Given the description of an element on the screen output the (x, y) to click on. 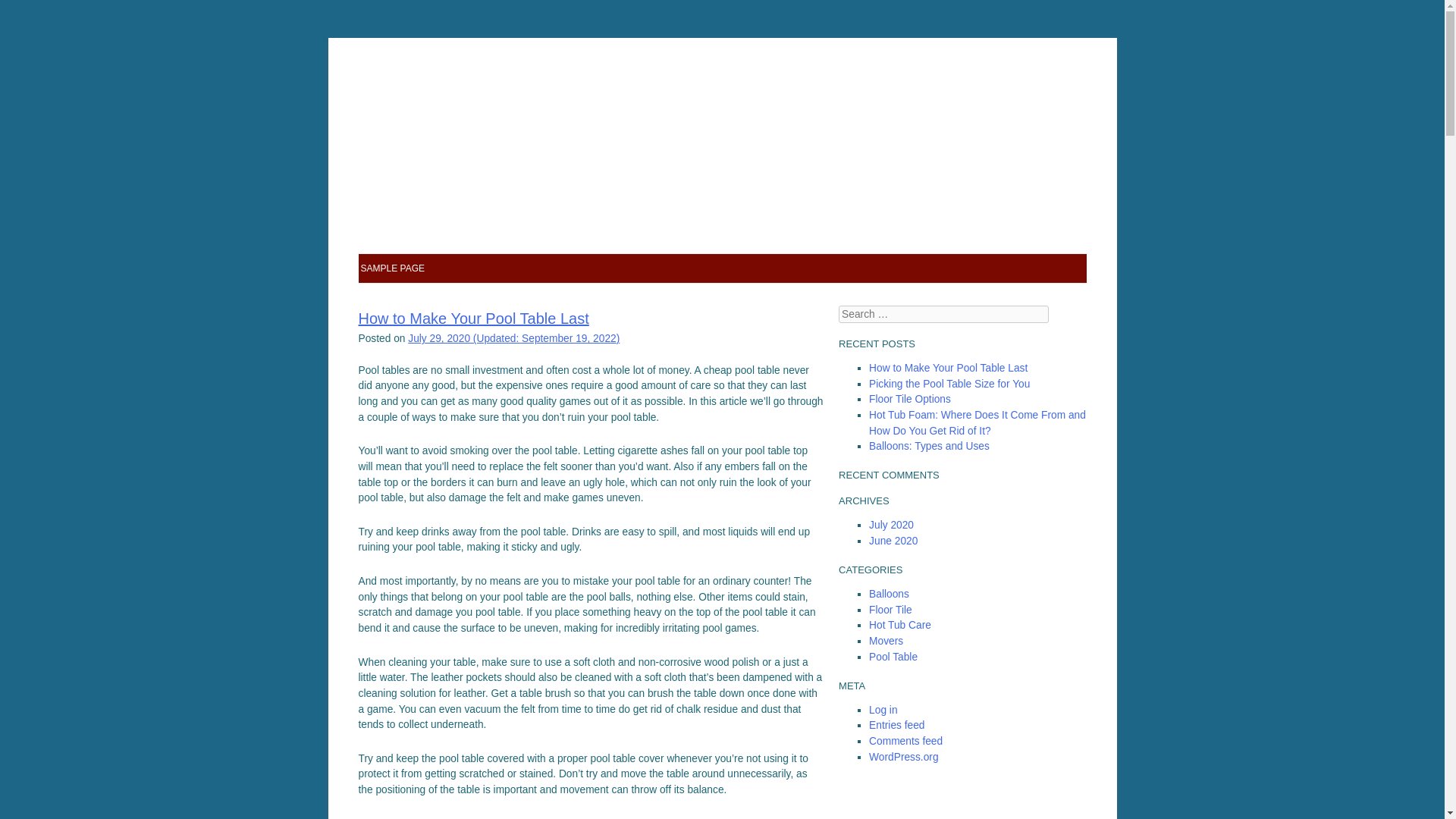
July 2020 (891, 524)
SAMPLE PAGE (393, 267)
Log in (882, 709)
Floor Tile (890, 609)
Search (38, 15)
Movers (885, 641)
How to Make Your Pool Table Last (473, 318)
Floor Tile Options (909, 398)
Balloons (888, 593)
How to Make Your Pool Table Last (948, 367)
Picking the Pool Table Size for You (949, 383)
